Given the description of an element on the screen output the (x, y) to click on. 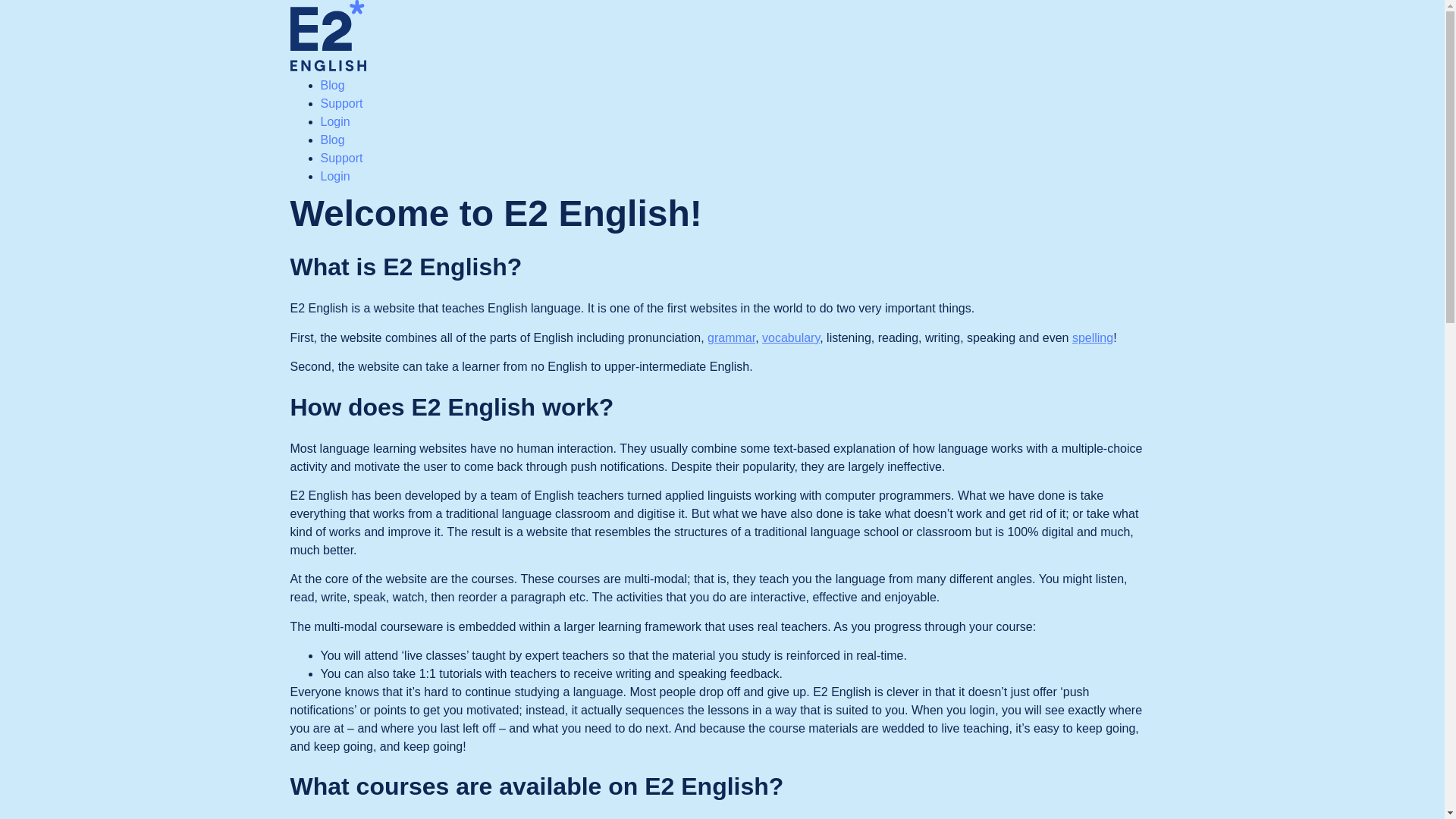
Support (341, 157)
grammar (731, 337)
vocabulary (790, 337)
Blog (331, 139)
Blog (331, 84)
Login (334, 175)
Login (334, 121)
spelling (1092, 337)
Support (341, 103)
